Given the description of an element on the screen output the (x, y) to click on. 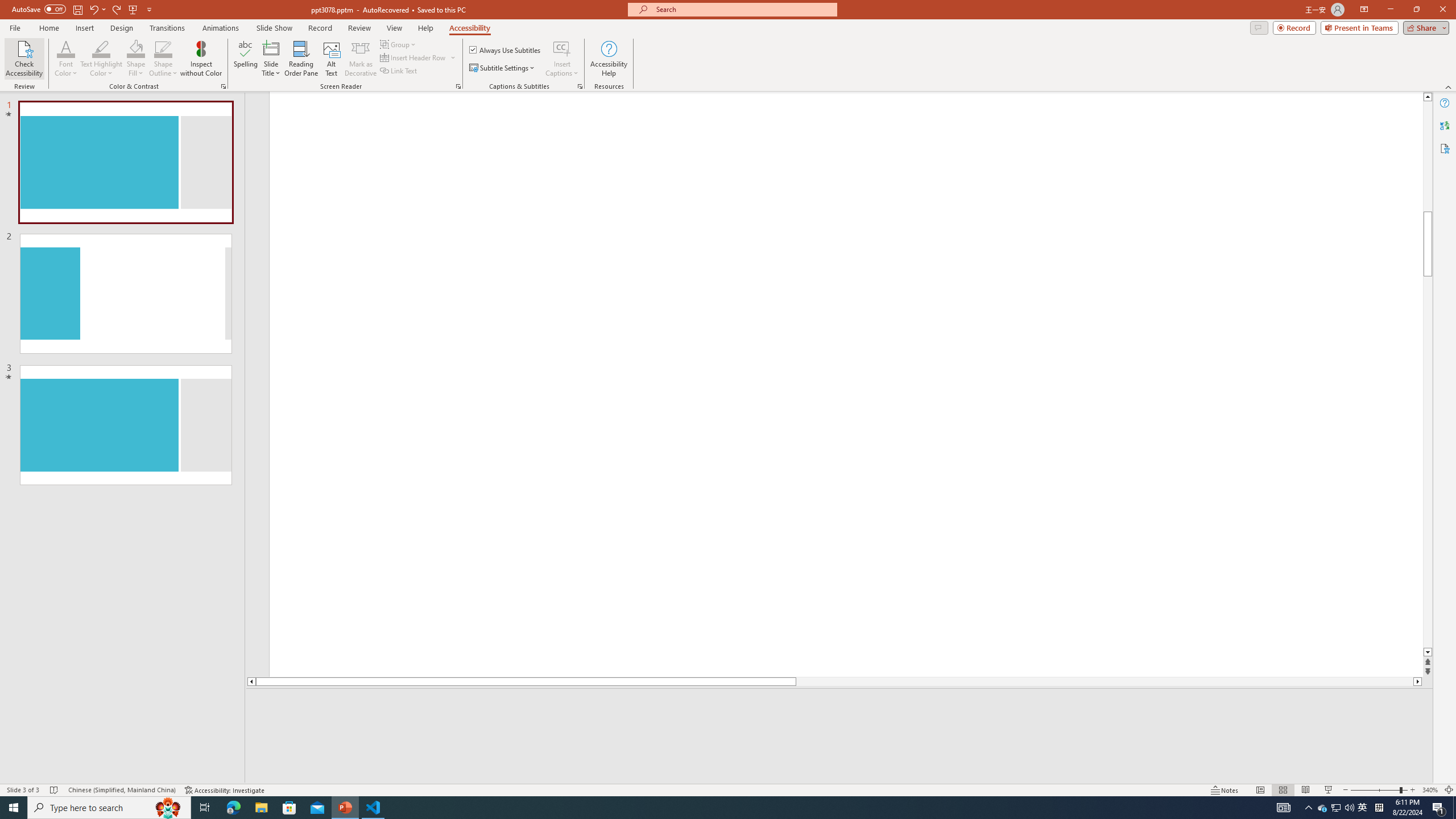
Accessibility Help (608, 58)
Screen Reader (458, 85)
Reading Order Pane (301, 58)
